Given the description of an element on the screen output the (x, y) to click on. 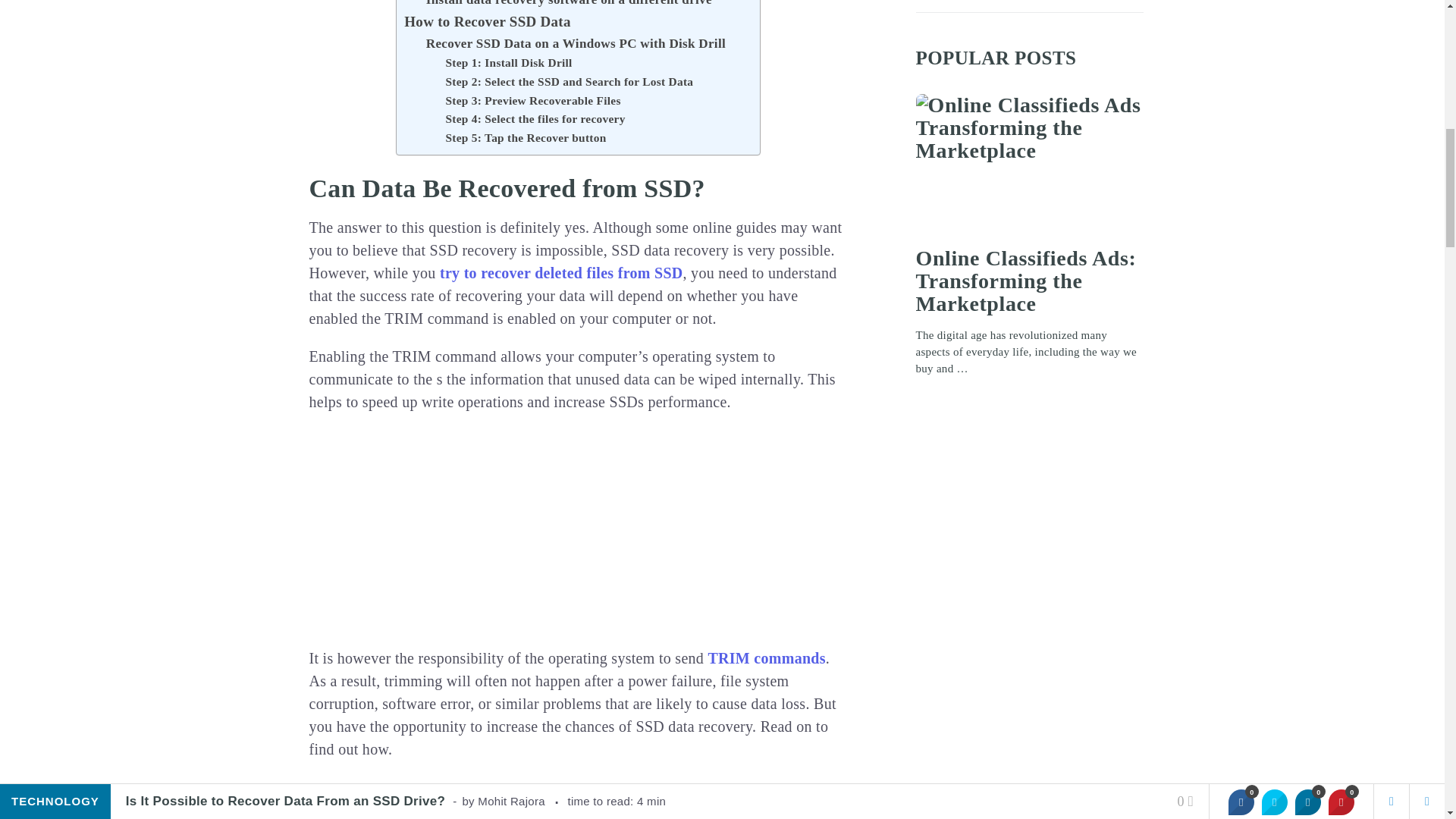
Recover SSD Data on a Windows PC with Disk Drill (575, 43)
TRIM commands (766, 658)
Step 5: Tap the Recover button (525, 138)
Step 1: Install Disk Drill (508, 63)
Step 3: Preview Recoverable Files (532, 100)
How to Recover SSD Data (487, 21)
Step 4: Select the files for recovery (534, 118)
Step 5: Tap the Recover button (525, 138)
Step 2: Select the SSD and Search for Lost Data (569, 81)
Step 3: Preview Recoverable Files (532, 100)
